Given the description of an element on the screen output the (x, y) to click on. 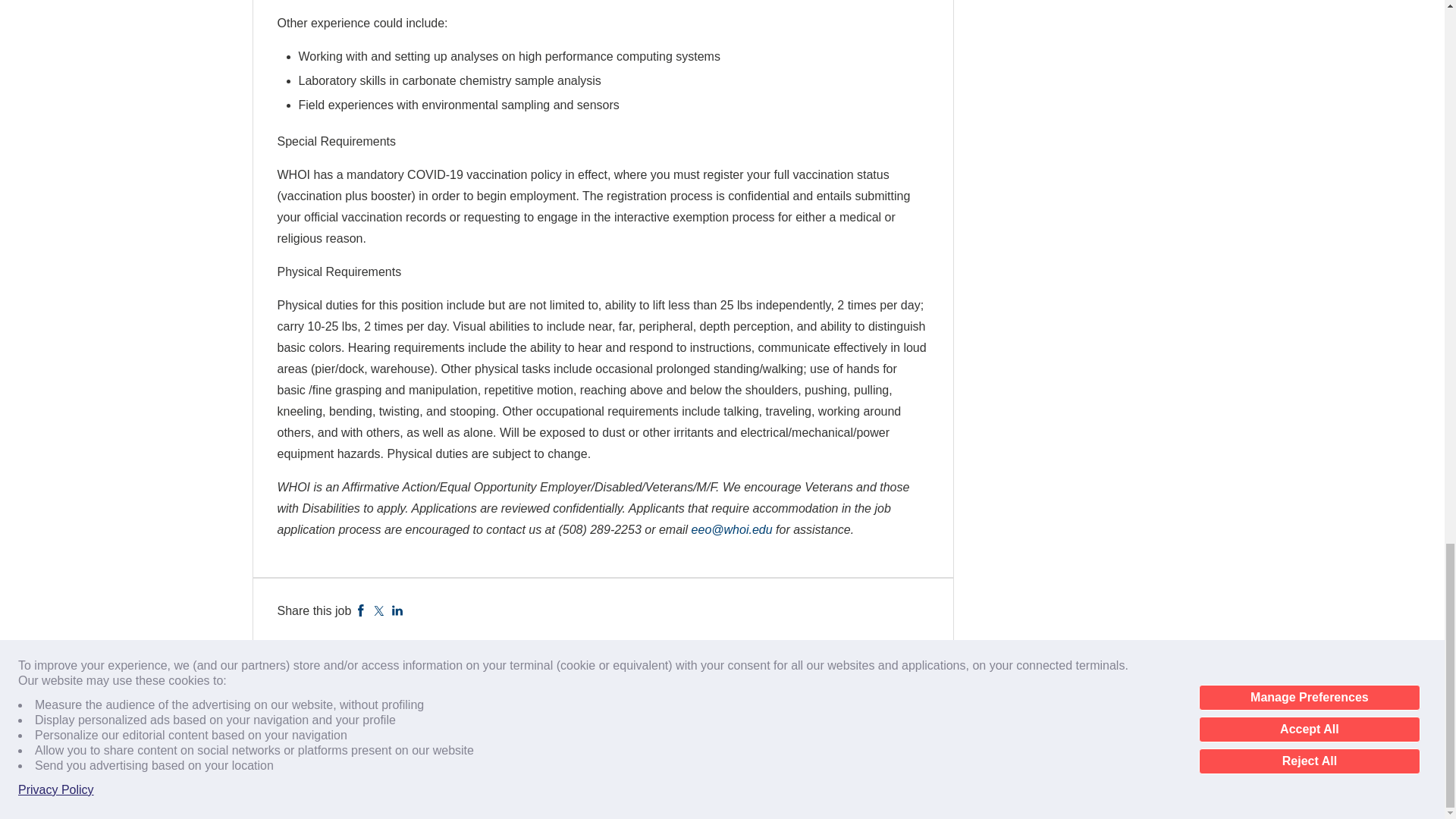
Facebook (360, 610)
